Given the description of an element on the screen output the (x, y) to click on. 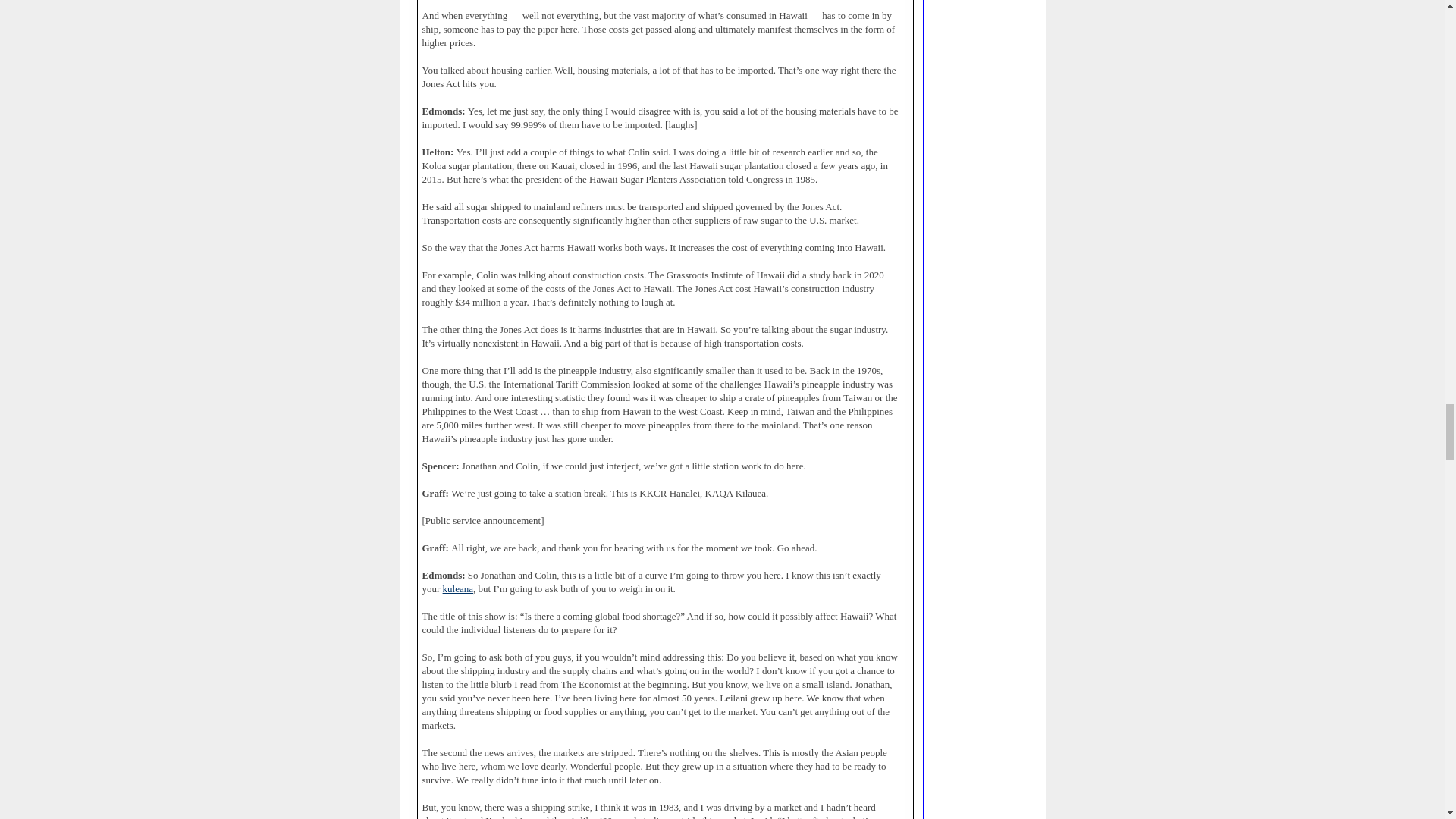
kuleana (457, 588)
